Given the description of an element on the screen output the (x, y) to click on. 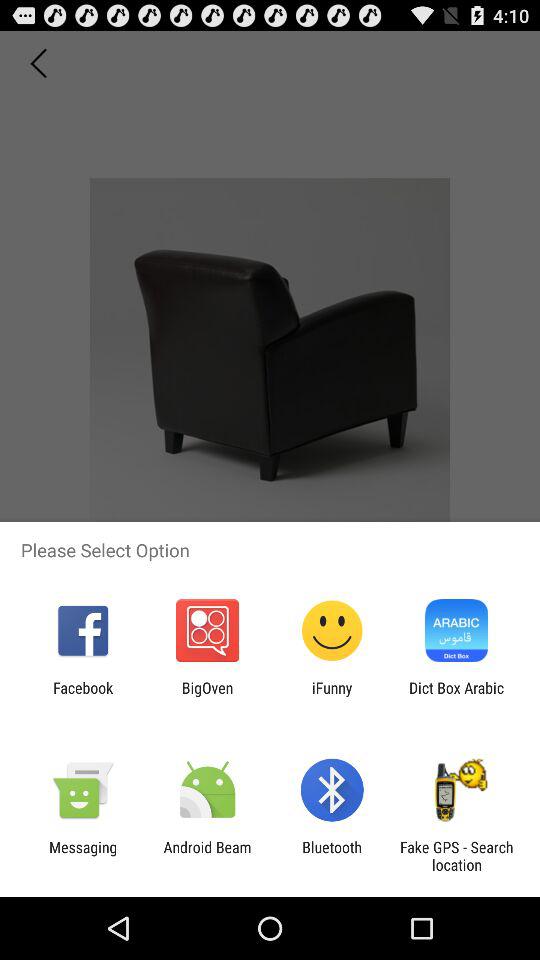
flip to messaging icon (83, 856)
